Given the description of an element on the screen output the (x, y) to click on. 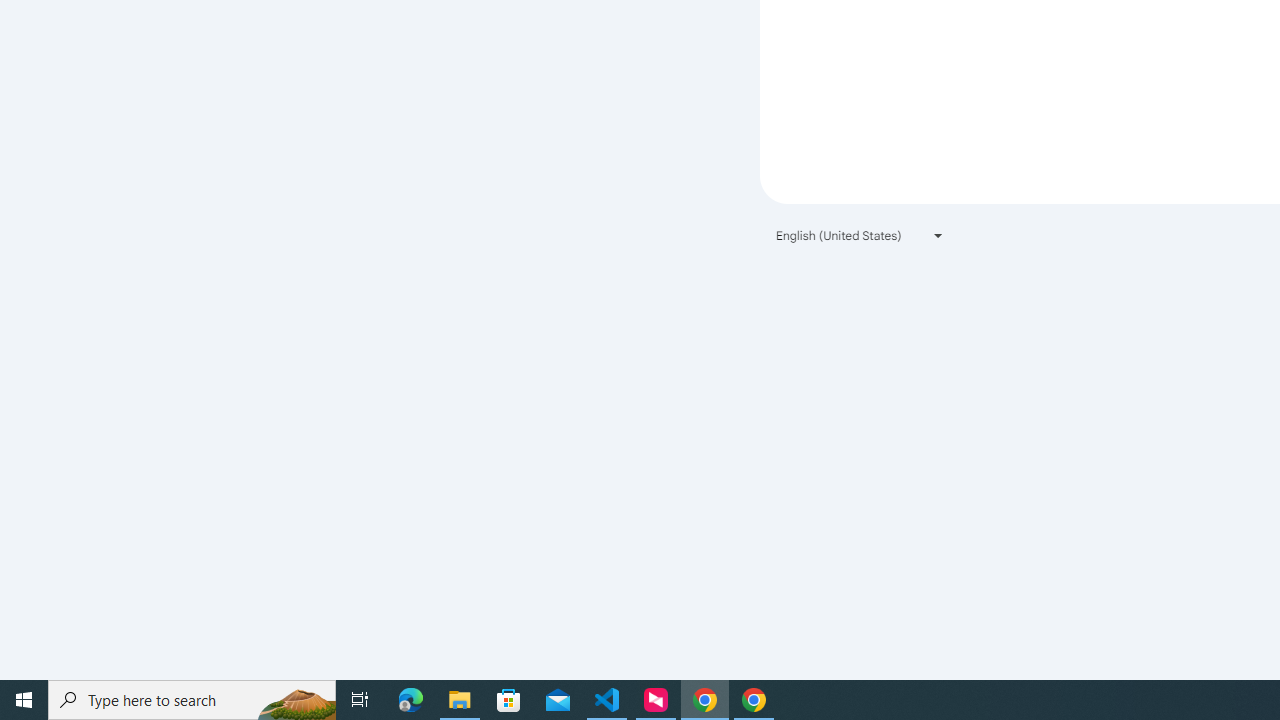
English (United States) (860, 234)
